Given the description of an element on the screen output the (x, y) to click on. 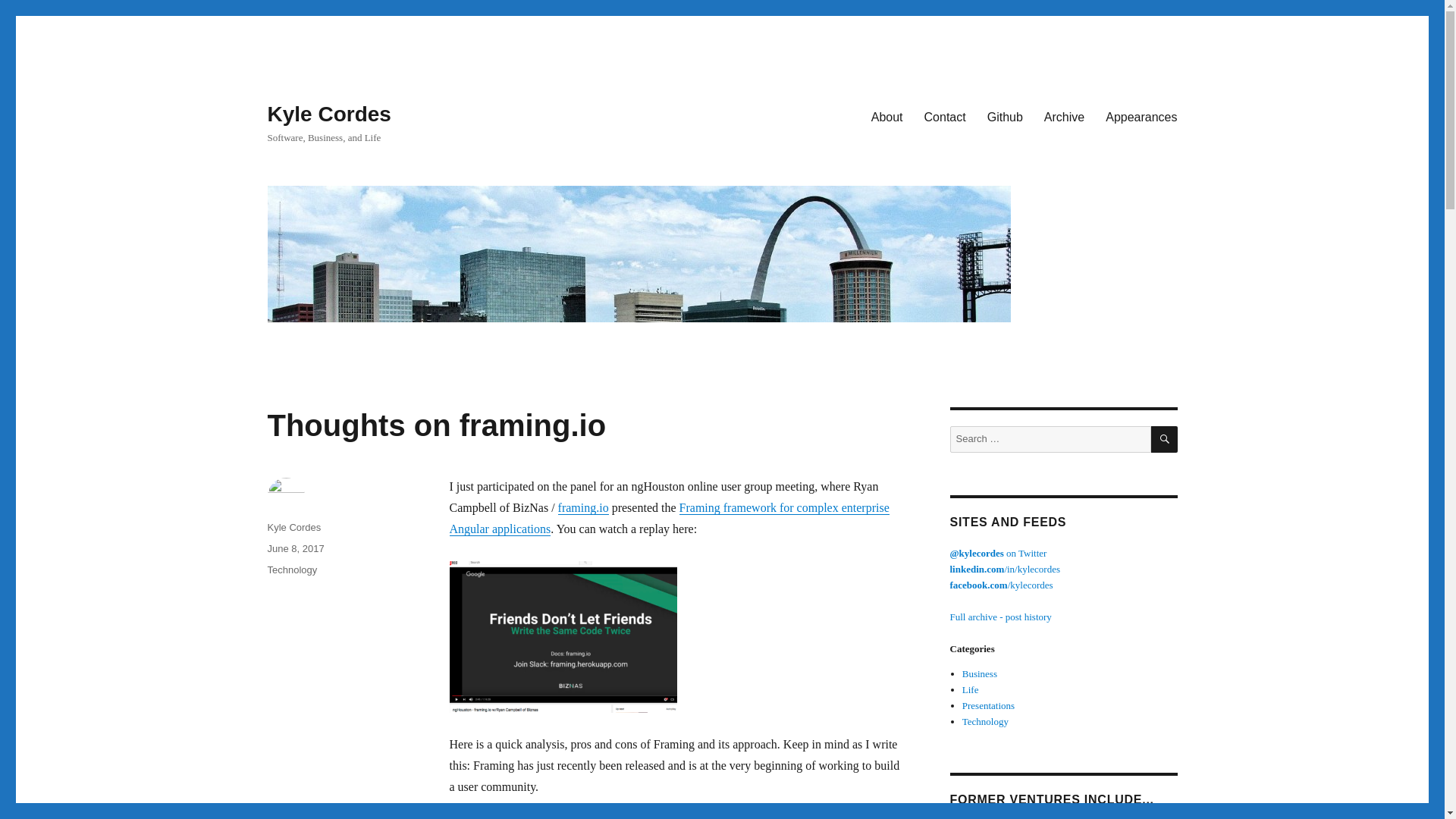
About (887, 116)
Archive (1063, 116)
Business (979, 673)
Kyle Cordes (328, 114)
Contact (945, 116)
Github (1004, 116)
June 8, 2017 (294, 548)
Kyle Cordes (293, 527)
Life (970, 689)
